Given the description of an element on the screen output the (x, y) to click on. 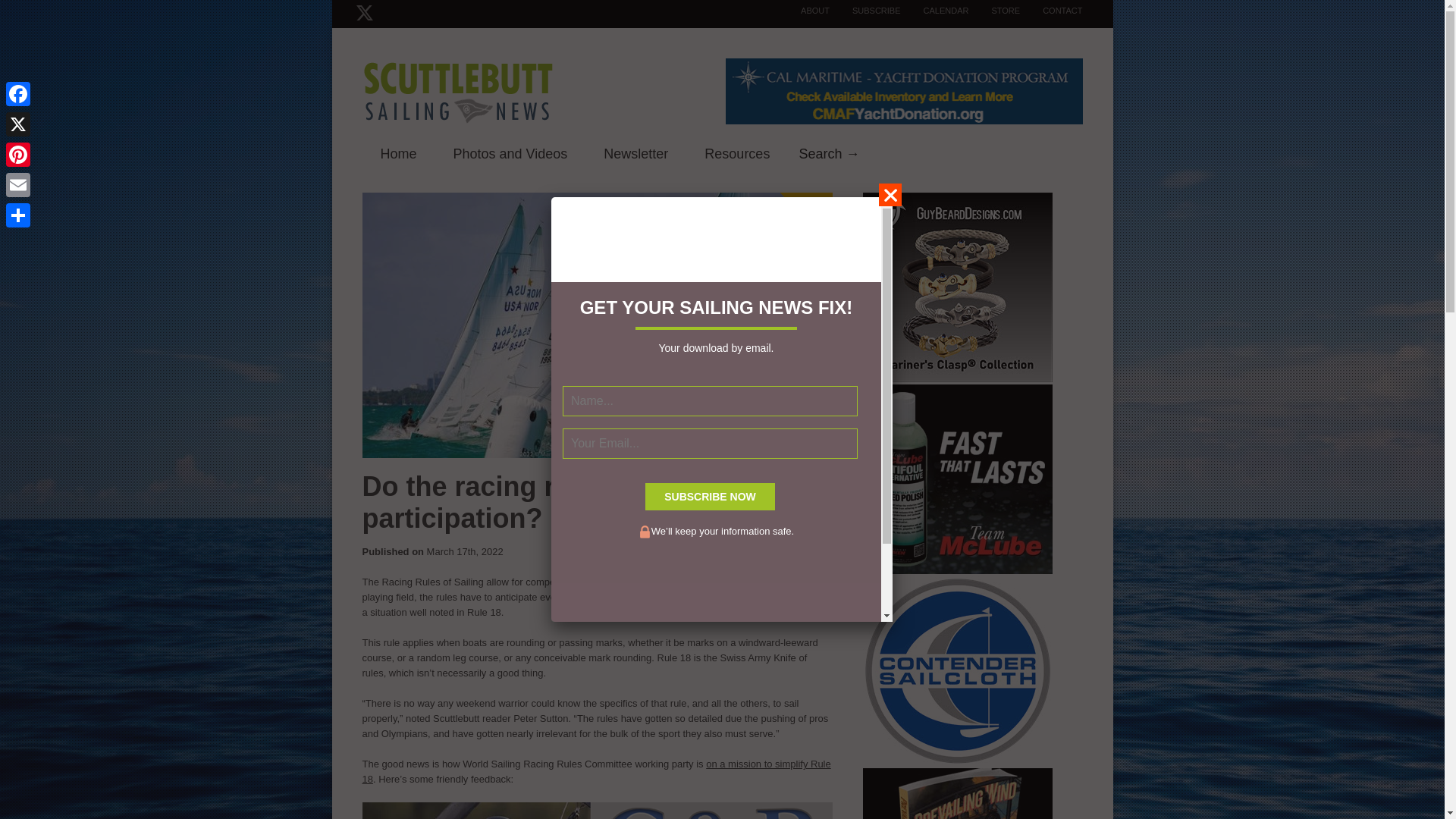
Feature (828, 151)
Home (398, 154)
Subscribe NOW (709, 496)
ABOUT (803, 10)
STORE (994, 10)
Photos and Videos (510, 154)
Newsletter (635, 154)
CALENDAR (935, 10)
Resources (736, 154)
CONTACT (1050, 10)
SUBSCRIBE (865, 10)
on a mission to simplify Rule 18 (596, 771)
